Given the description of an element on the screen output the (x, y) to click on. 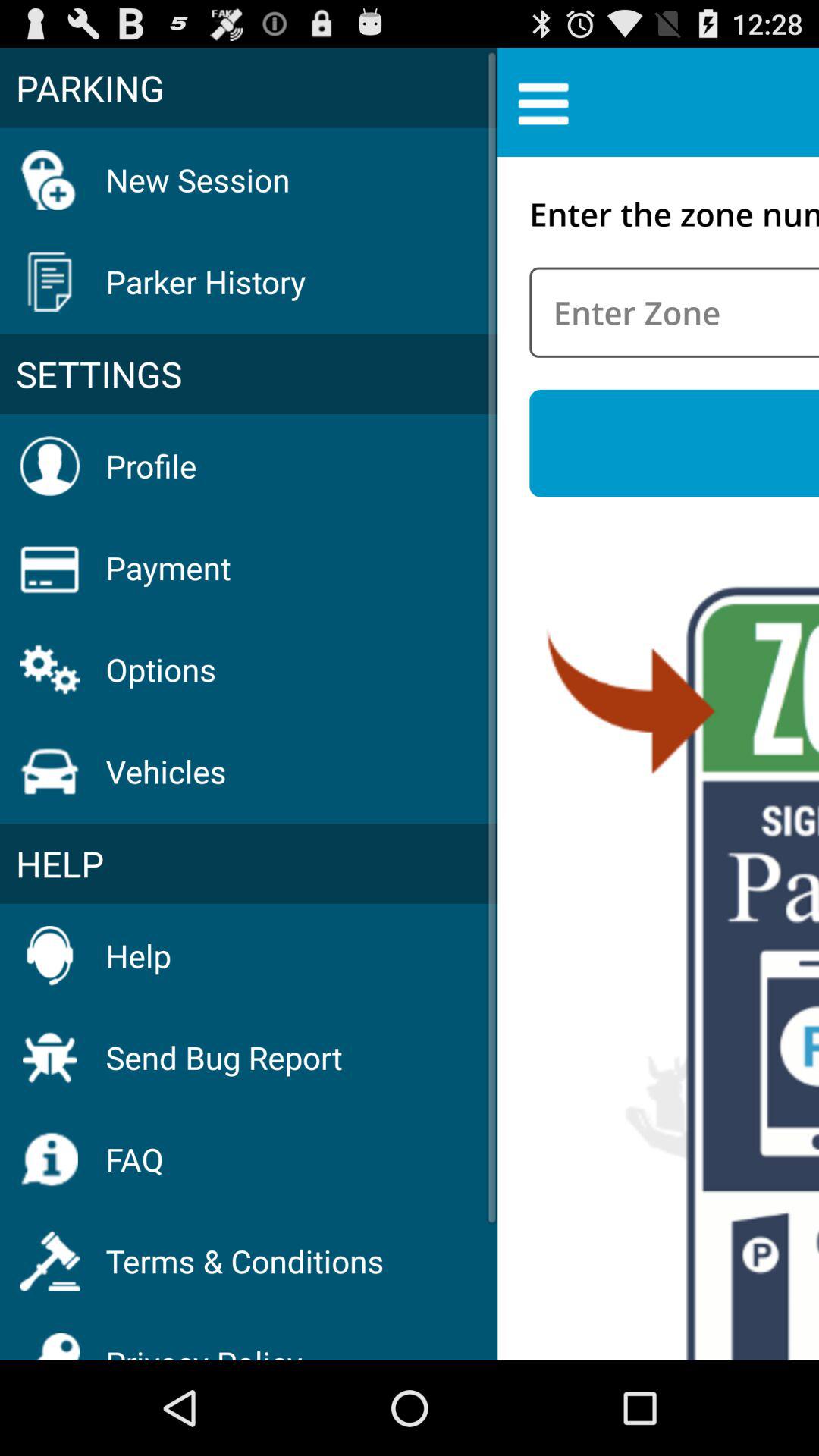
input text for the zone number (674, 312)
